Given the description of an element on the screen output the (x, y) to click on. 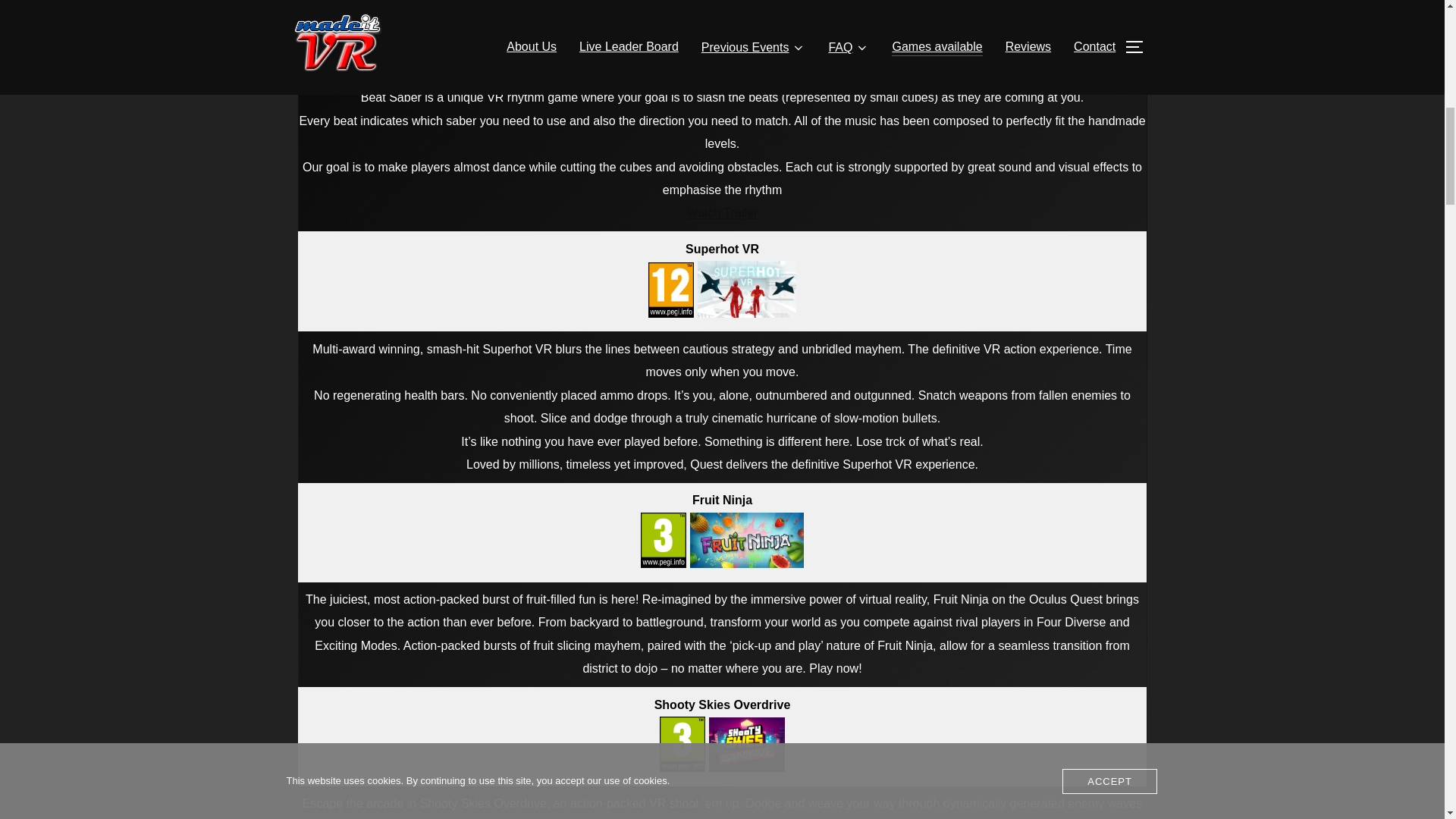
Watch Trailer (722, 212)
